Given the description of an element on the screen output the (x, y) to click on. 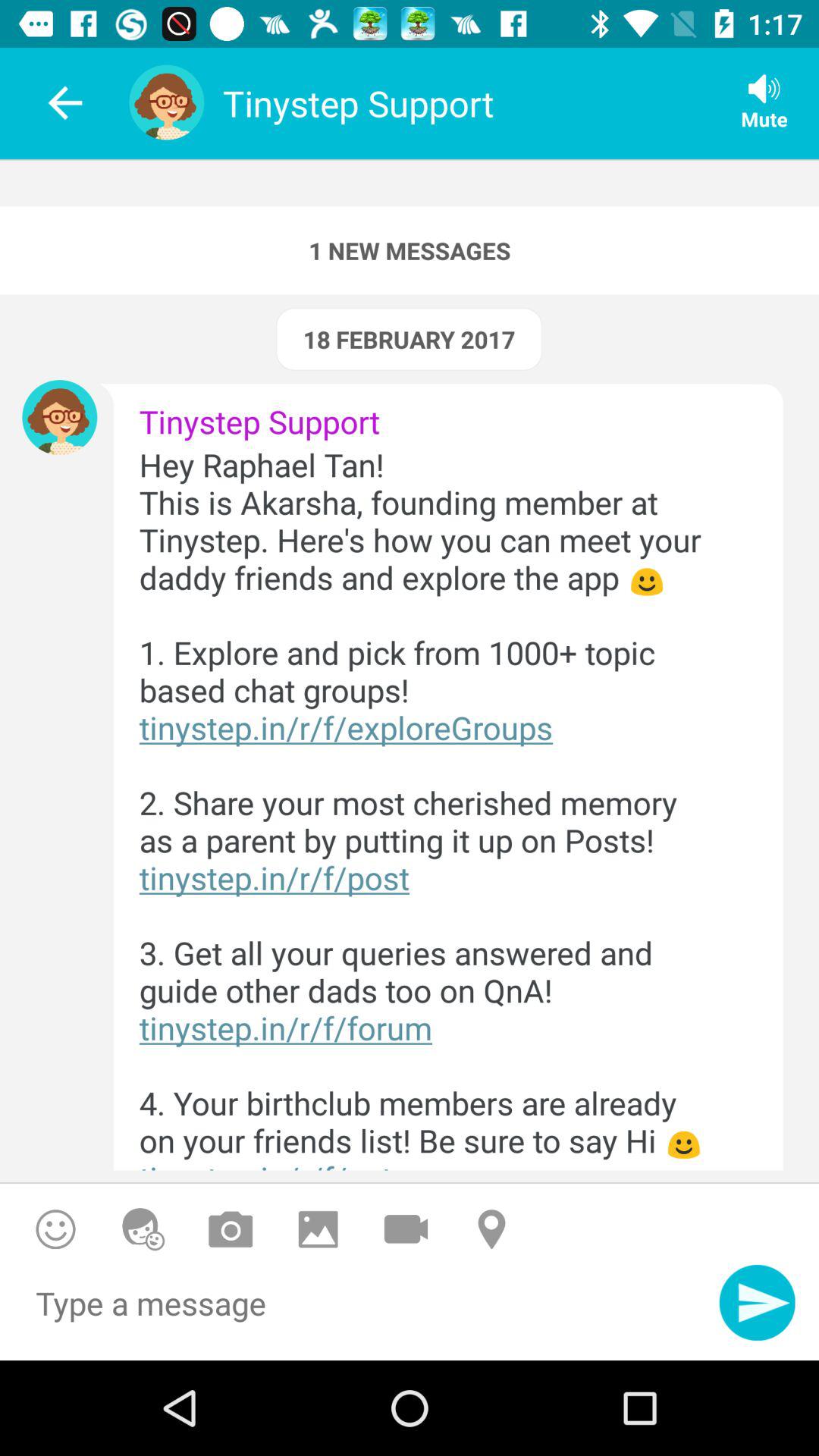
select hey raphael tan (435, 806)
